Given the description of an element on the screen output the (x, y) to click on. 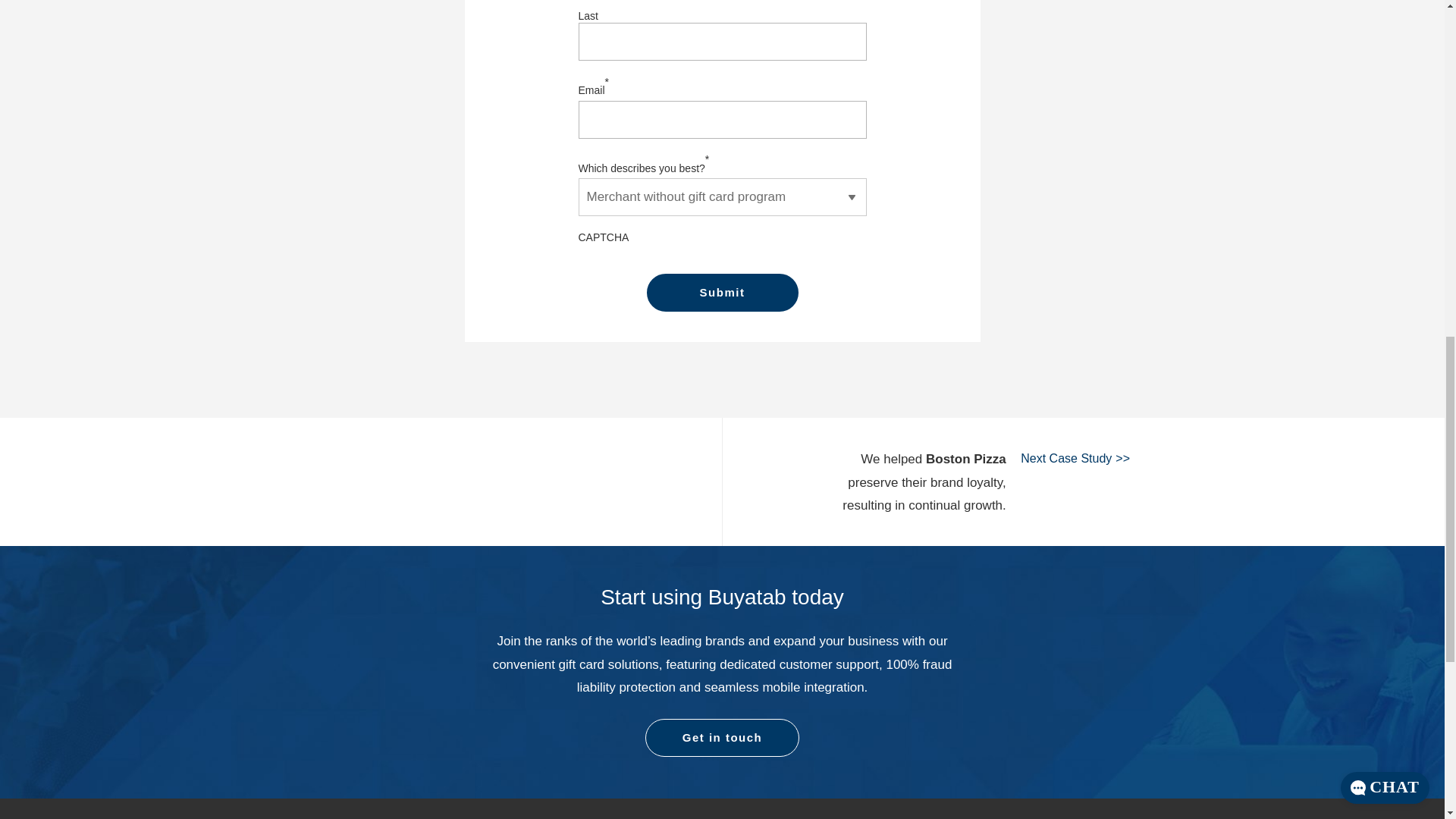
Get in touch (722, 737)
Submit (721, 292)
